Given the description of an element on the screen output the (x, y) to click on. 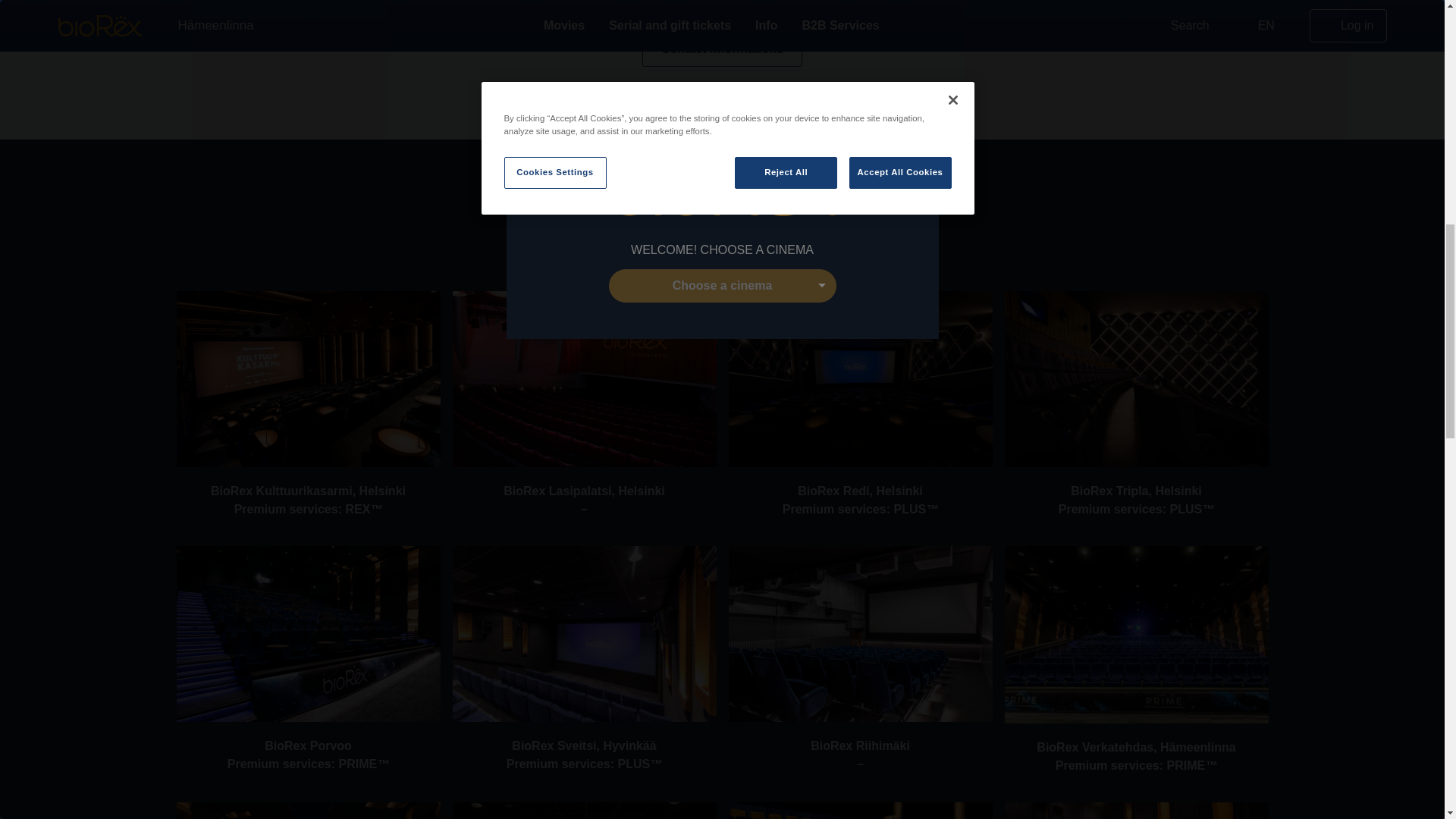
Contact informations (722, 48)
